Given the description of an element on the screen output the (x, y) to click on. 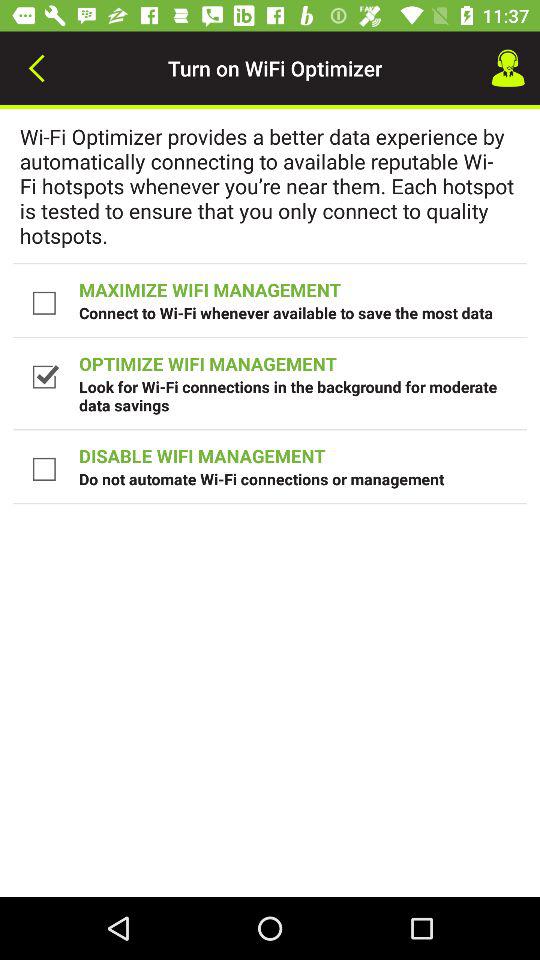
choose icon at the top right corner (508, 67)
